Given the description of an element on the screen output the (x, y) to click on. 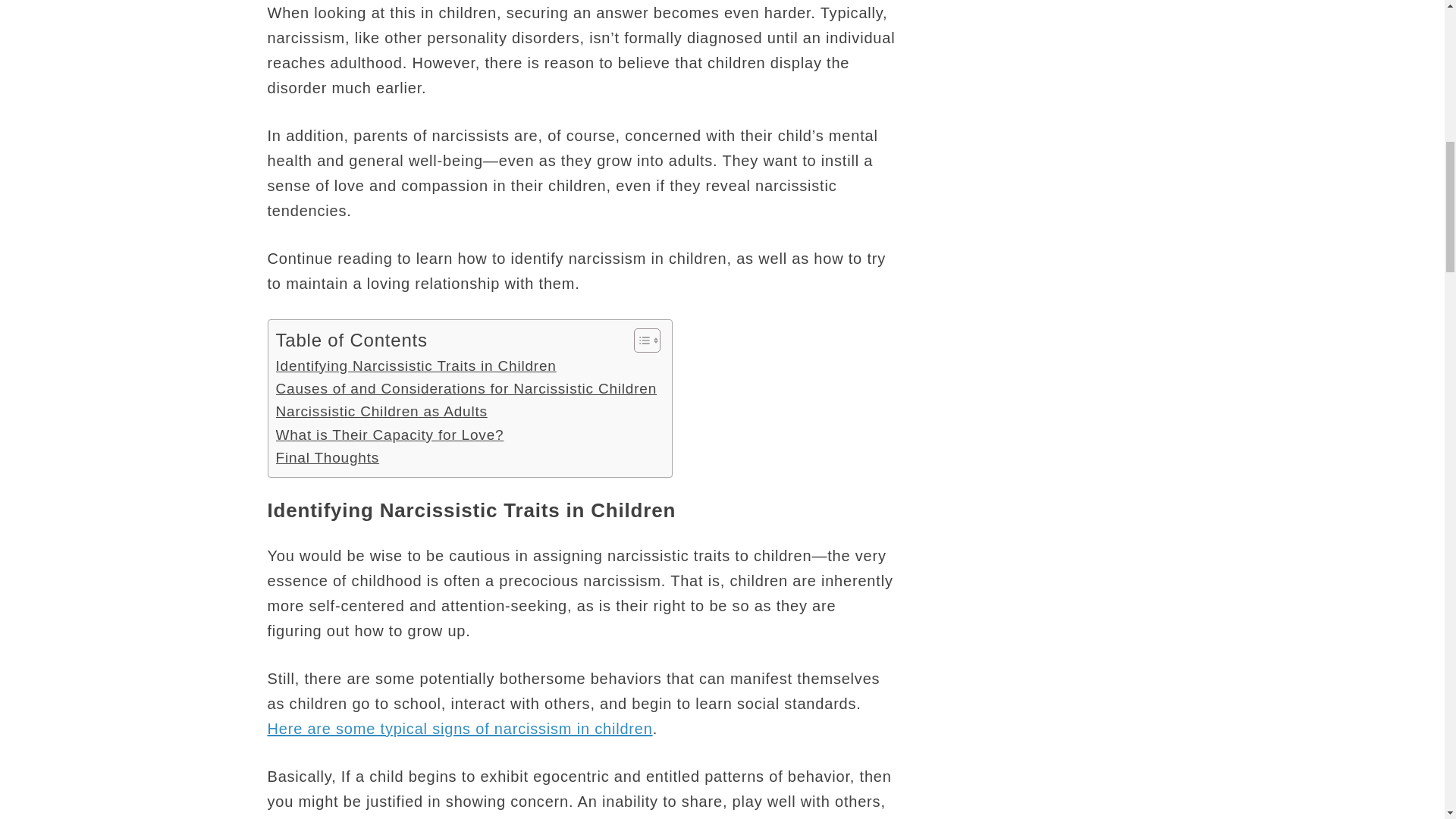
Final Thoughts (328, 457)
Identifying Narcissistic Traits in Children (416, 365)
What is Their Capacity for Love? (389, 435)
Causes of and Considerations for Narcissistic Children (467, 388)
Narcissistic Children as Adults (381, 411)
